Given the description of an element on the screen output the (x, y) to click on. 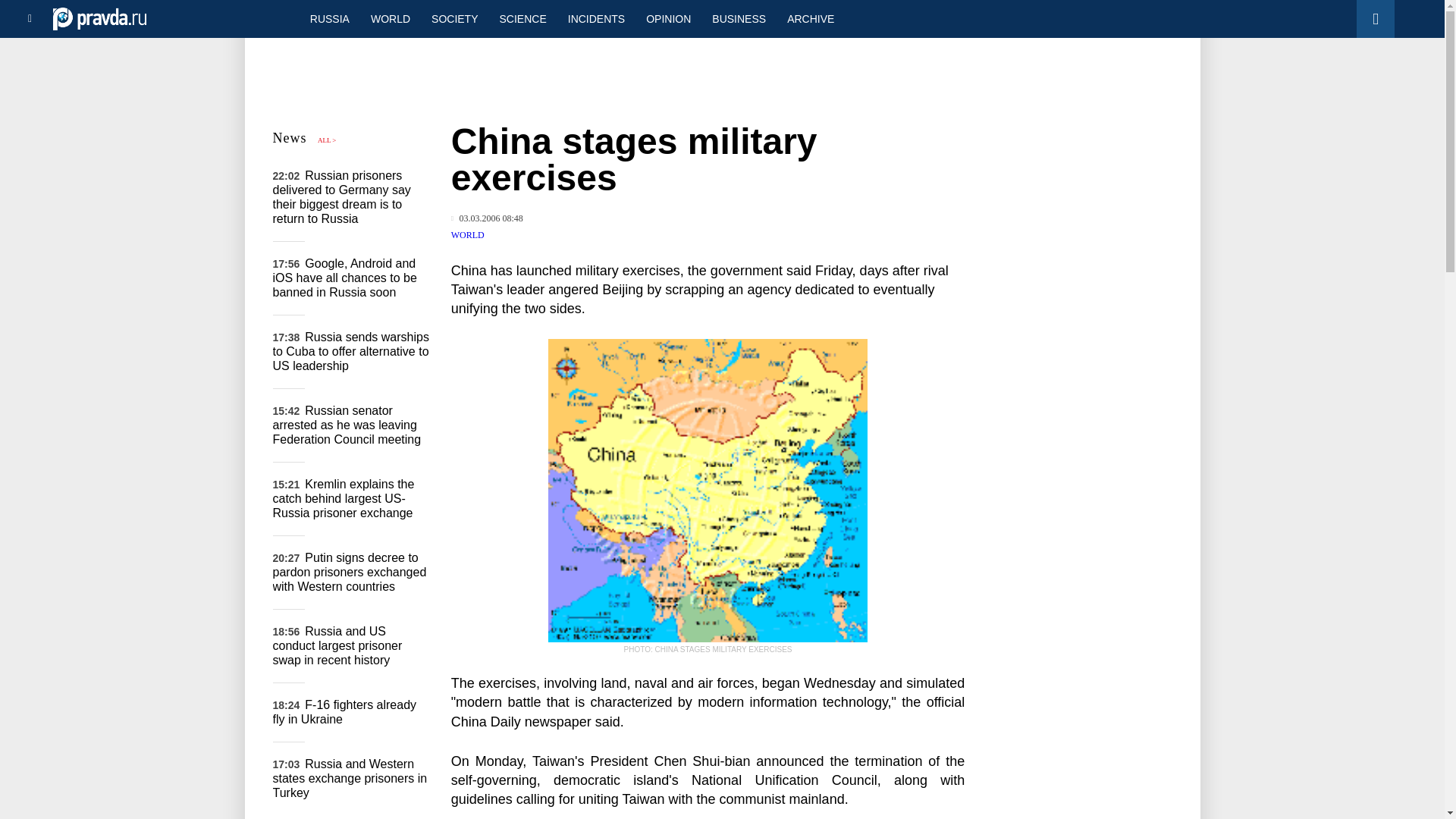
WORLD (467, 235)
News (290, 137)
SOCIETY (453, 18)
Russia and Western states exchange prisoners in Turkey (350, 778)
Published (486, 218)
INCIDENTS (595, 18)
WORLD (389, 18)
